Given the description of an element on the screen output the (x, y) to click on. 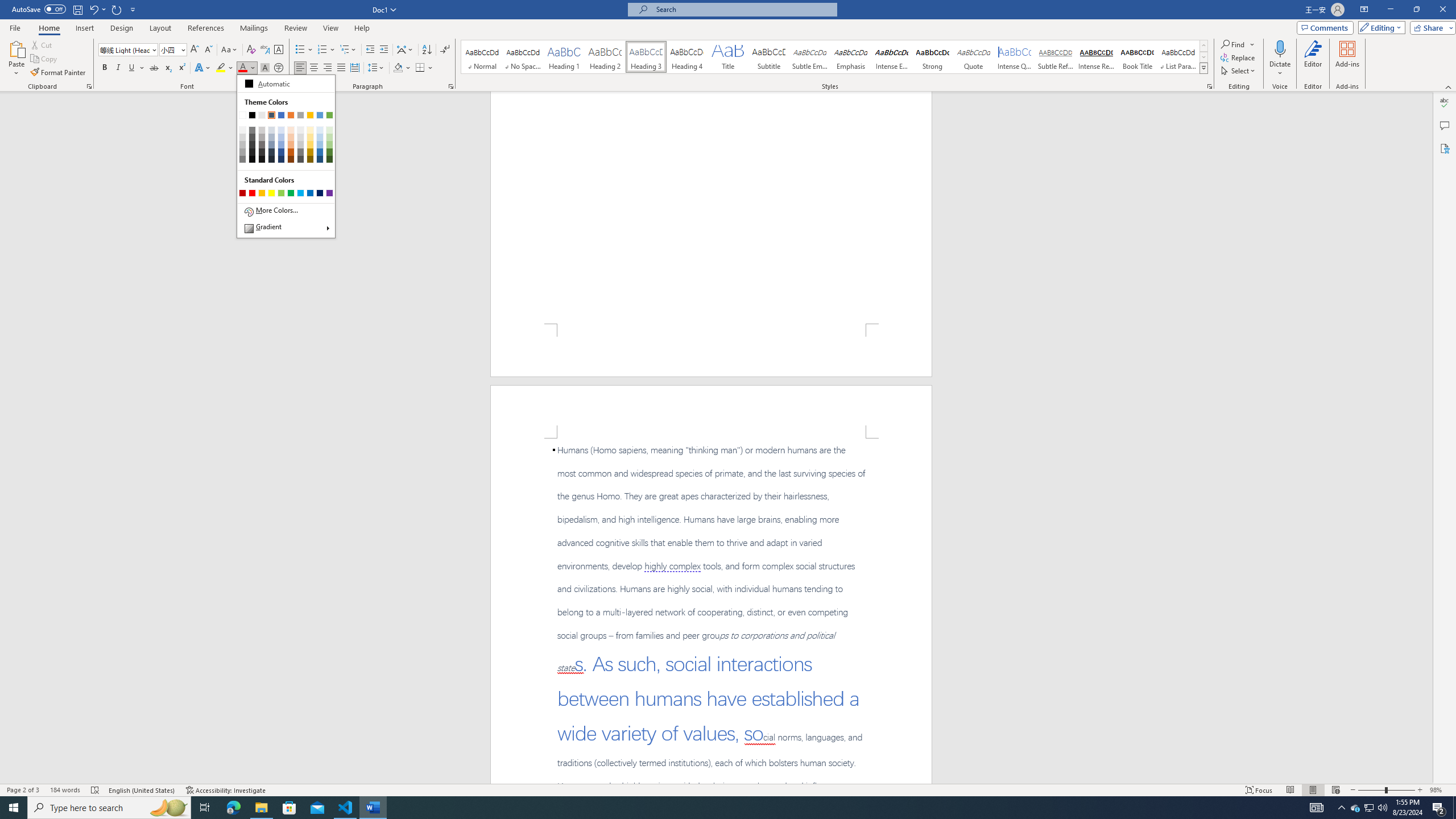
Row Down (1203, 56)
Intense Quote (1014, 56)
Styles... (1209, 85)
Strong (932, 56)
Bullets (300, 49)
Print Layout (1312, 790)
